Given the description of an element on the screen output the (x, y) to click on. 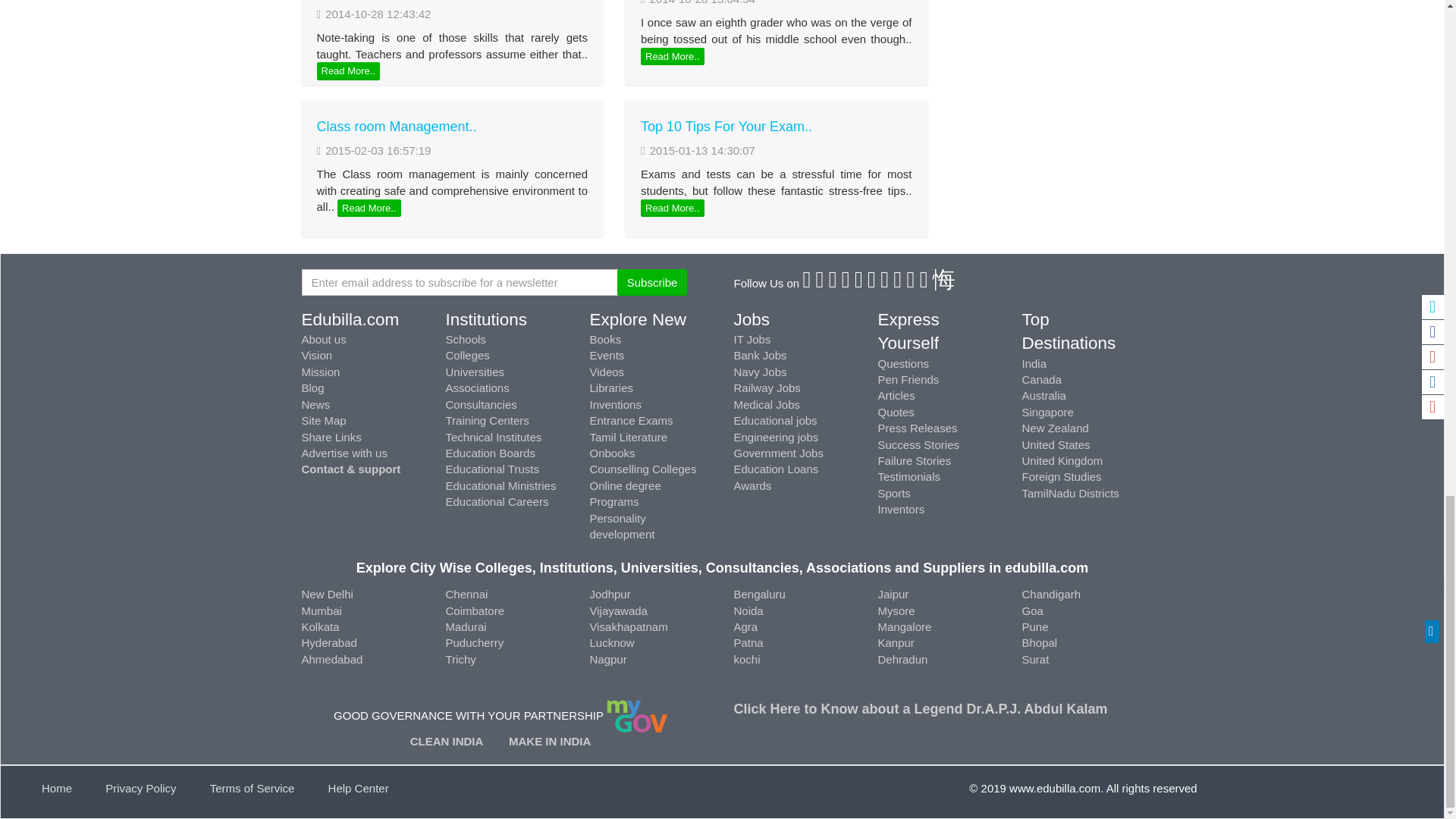
Class room Management.. (397, 126)
Read More.. (369, 208)
Top 10 Tips For Your Exam.. (726, 126)
Read More.. (672, 56)
Top 10 Tips For Your Exam (726, 126)
Subscribe (652, 282)
Read More.. (672, 208)
Class room Management (397, 126)
Read More.. (348, 71)
Subscribe (652, 282)
